Given the description of an element on the screen output the (x, y) to click on. 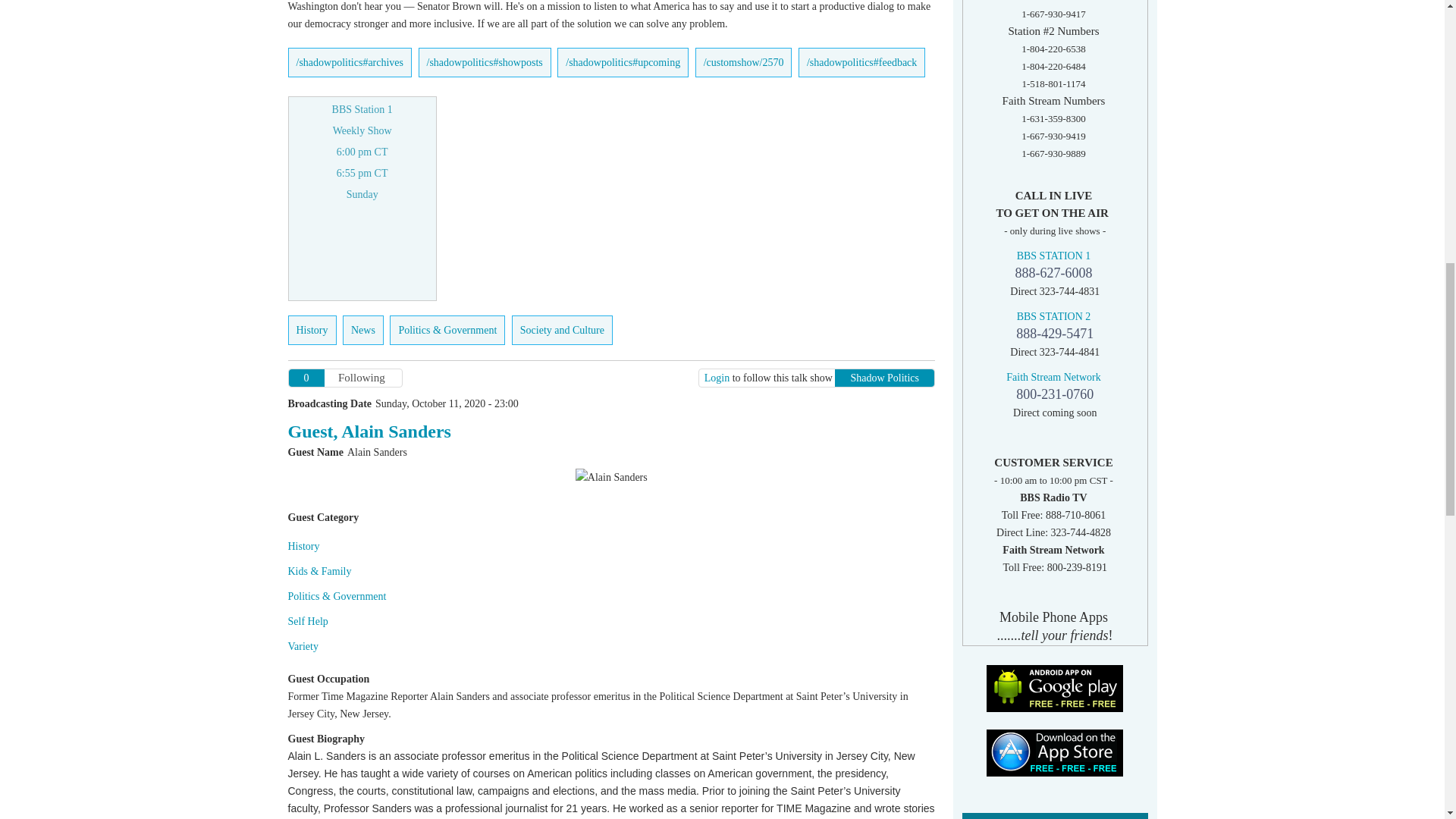
Alain Sanders (611, 477)
